Given the description of an element on the screen output the (x, y) to click on. 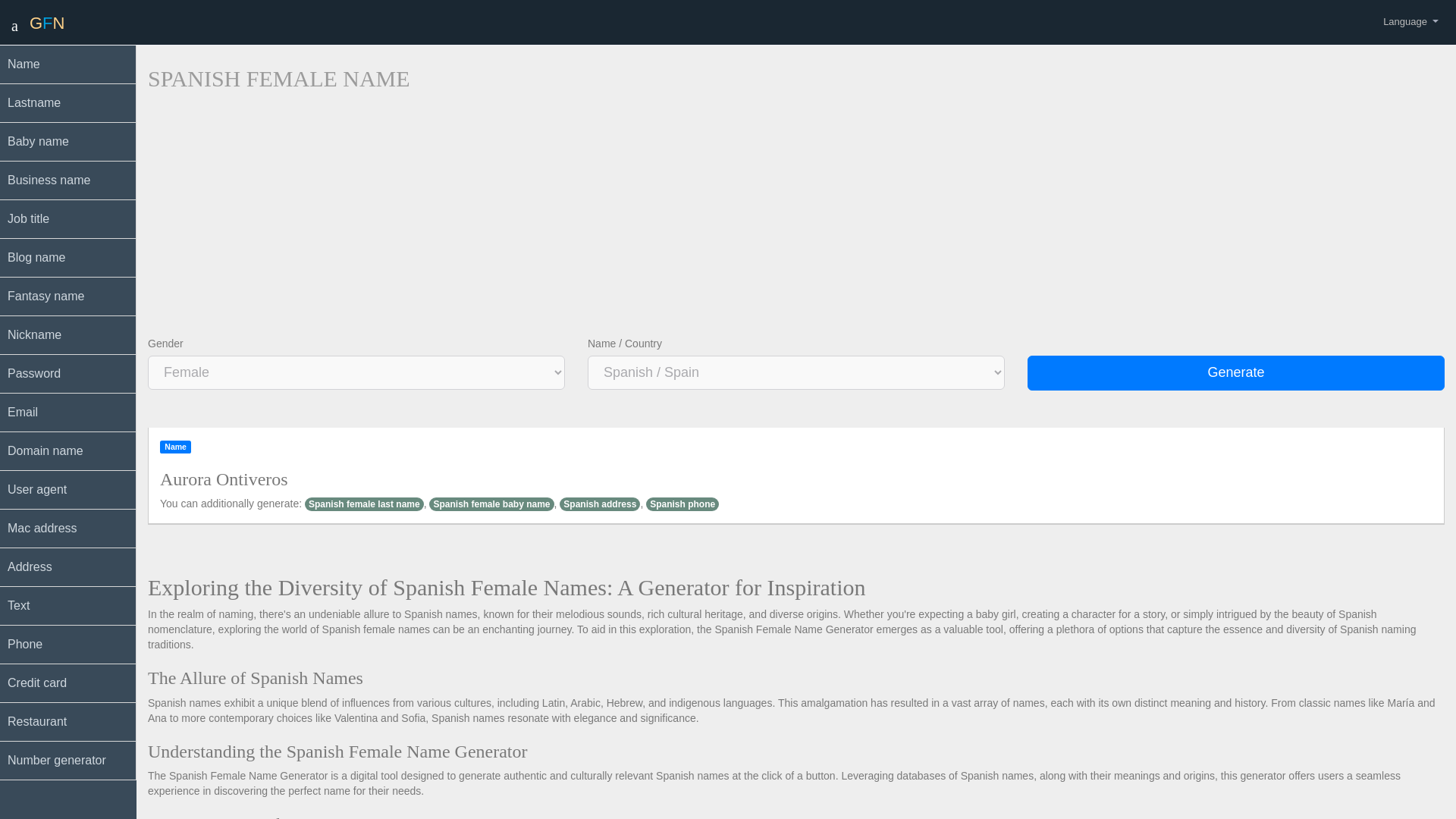
Restaurant (68, 722)
Spanish female baby name (491, 503)
Fantasy name (68, 296)
Nickname (68, 335)
Mac address (68, 528)
GFN (46, 23)
Spanish phone (681, 503)
Lastname (68, 103)
Job title (68, 219)
Spanish female last name (364, 503)
Language (1410, 20)
Business name (68, 180)
Baby name (68, 141)
Phone (68, 644)
